Given the description of an element on the screen output the (x, y) to click on. 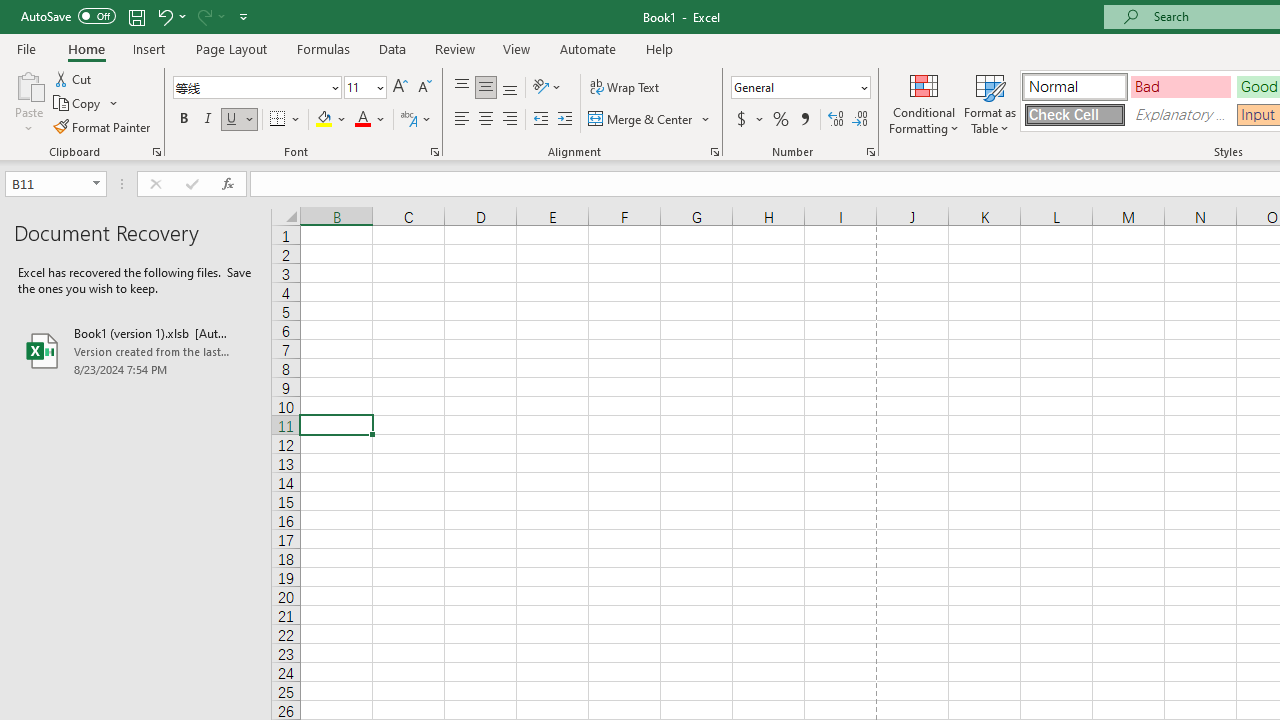
Save (136, 15)
Italic (207, 119)
Undo (164, 15)
Increase Font Size (399, 87)
Comma Style (804, 119)
